Given the description of an element on the screen output the (x, y) to click on. 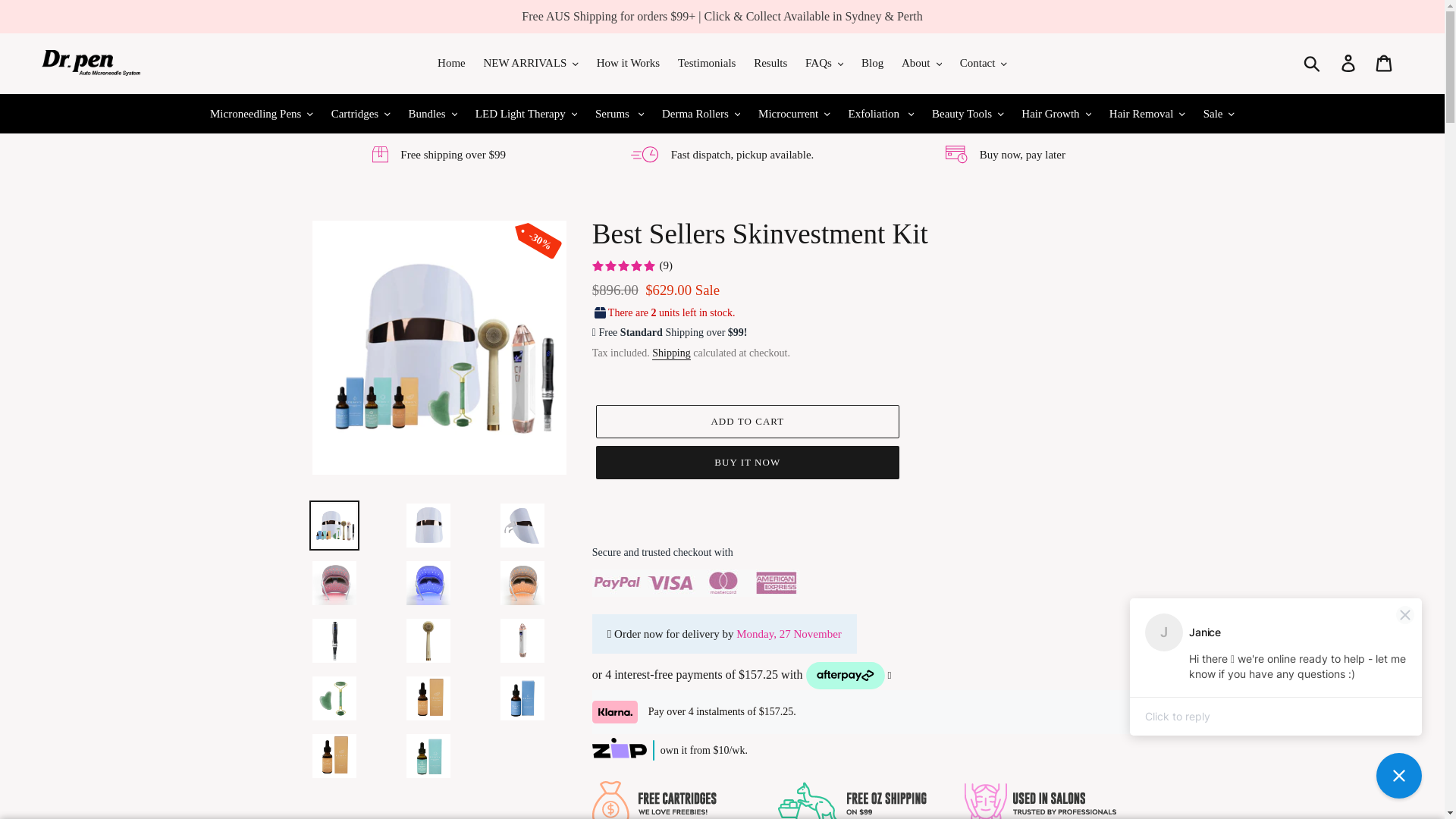
Home Element type: text (451, 63)
Testimonials Element type: text (706, 63)
Blog Element type: text (872, 63)
Gorgias live chat campaigns Element type: hover (1275, 670)
How it Works Element type: text (628, 63)
Results Element type: text (770, 63)
Gorgias live chat messenger Element type: hover (1398, 775)
 (9) Element type: text (632, 266)
Log in Element type: text (1349, 62)
ADD TO CART Element type: text (747, 421)
Submit Element type: text (1312, 62)
BUY IT NOW Element type: text (747, 462)
Shipping Element type: text (671, 353)
